Given the description of an element on the screen output the (x, y) to click on. 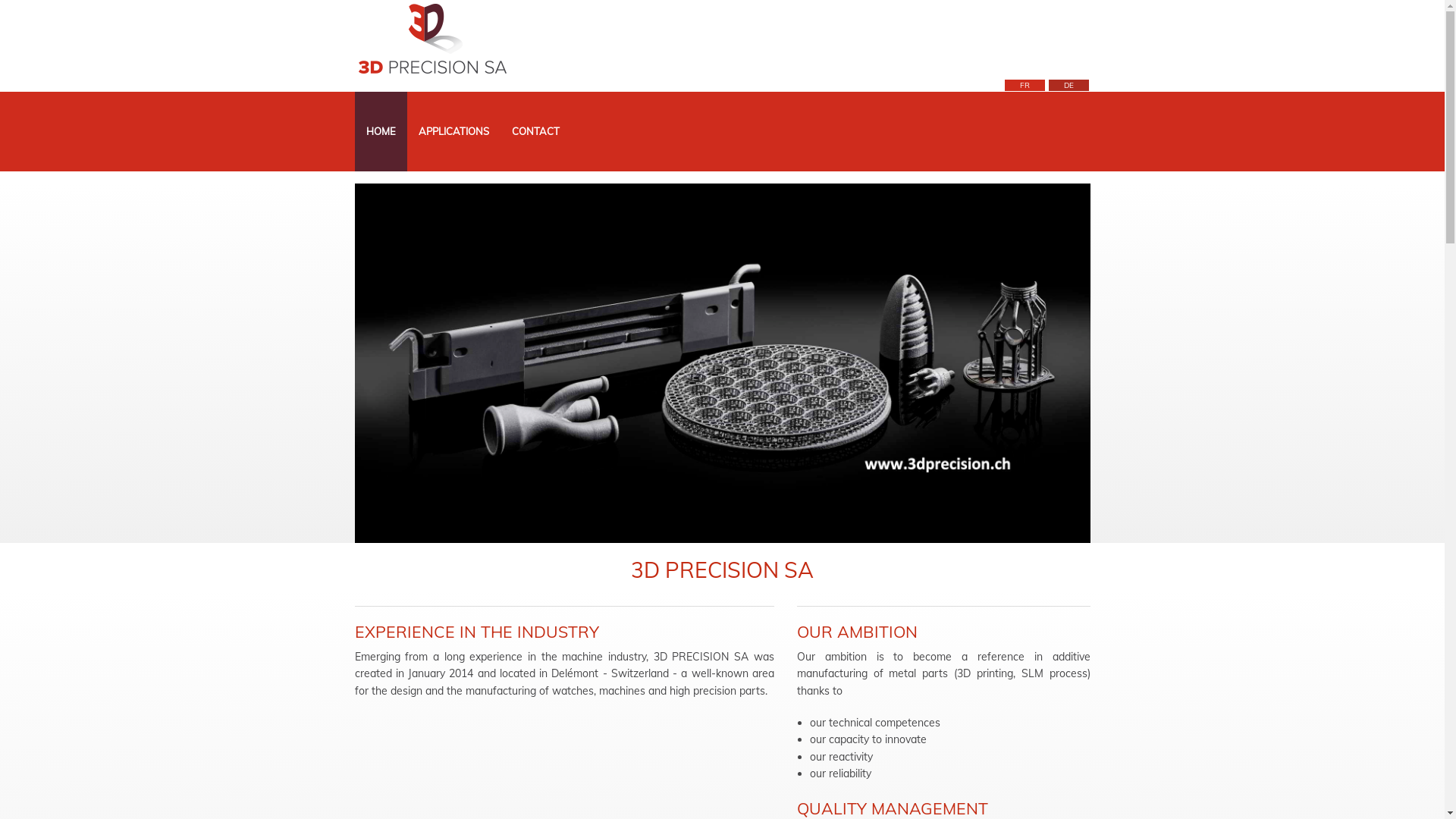
DE Element type: text (1068, 85)
FR Element type: text (1024, 85)
HOME Element type: text (380, 131)
APPLICATIONS Element type: text (452, 131)
CONTACT Element type: text (535, 131)
